Given the description of an element on the screen output the (x, y) to click on. 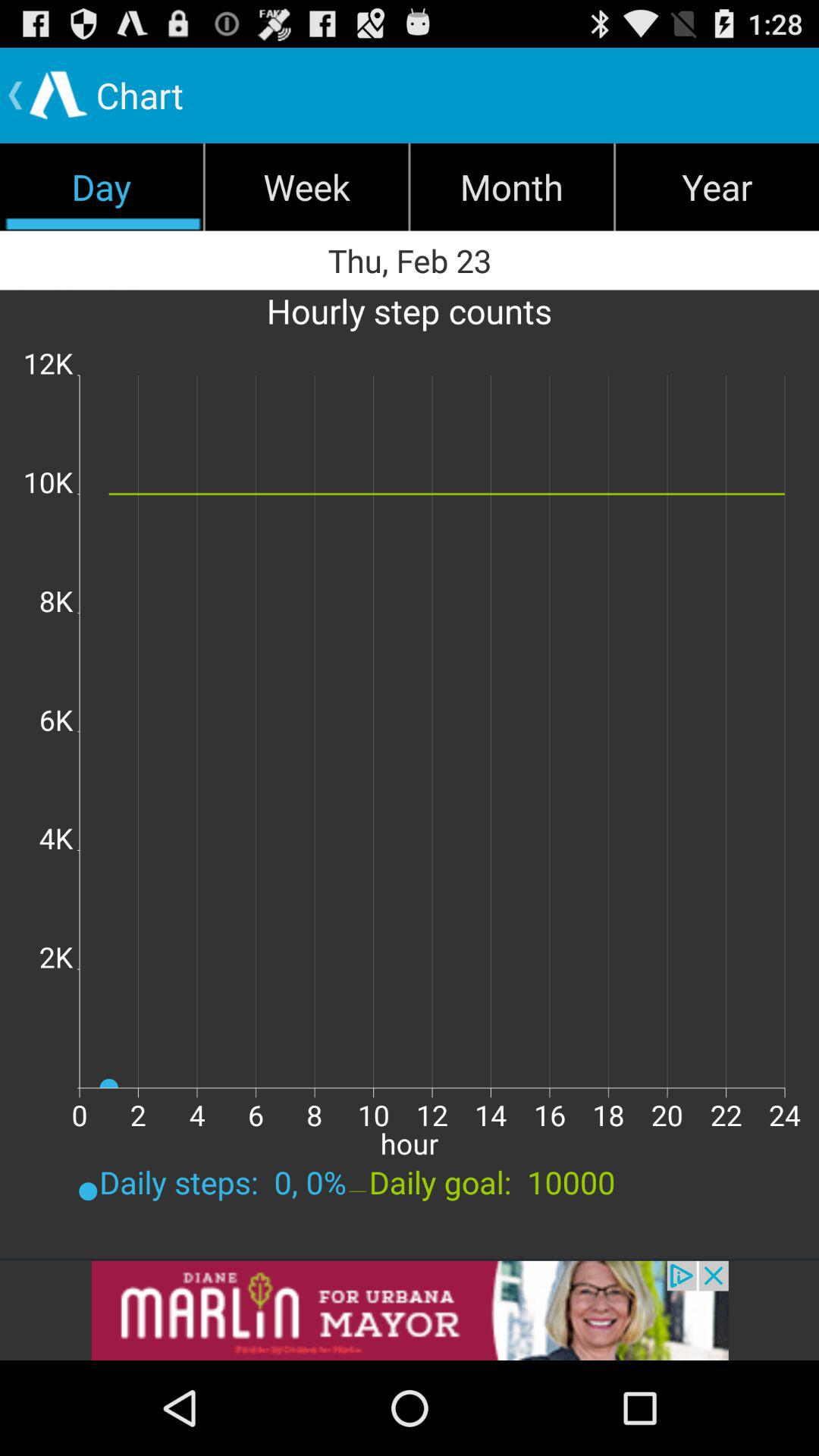
go to addverdisment (409, 1310)
